Given the description of an element on the screen output the (x, y) to click on. 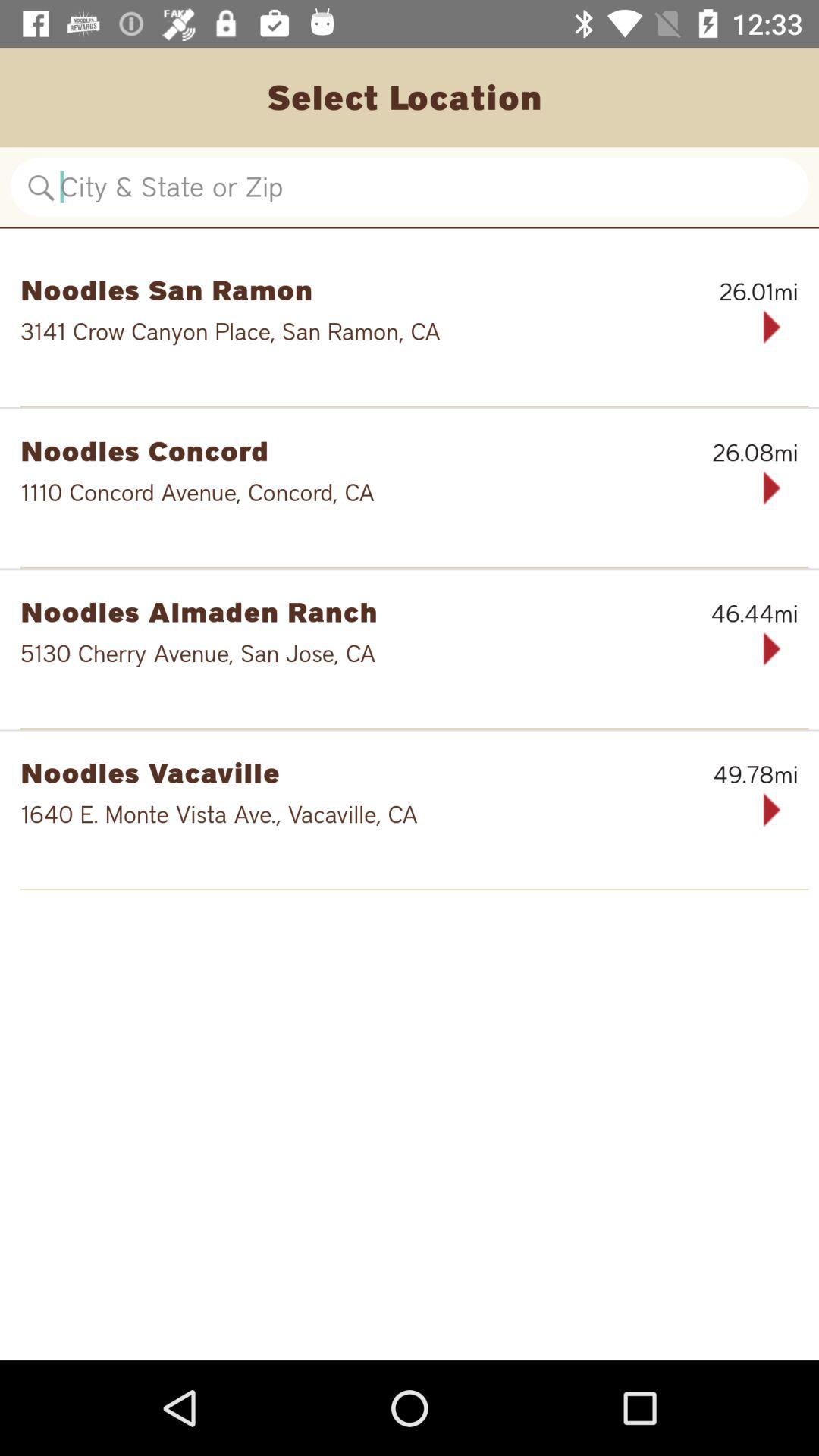
turn off icon next to 46.44mi (331, 611)
